Given the description of an element on the screen output the (x, y) to click on. 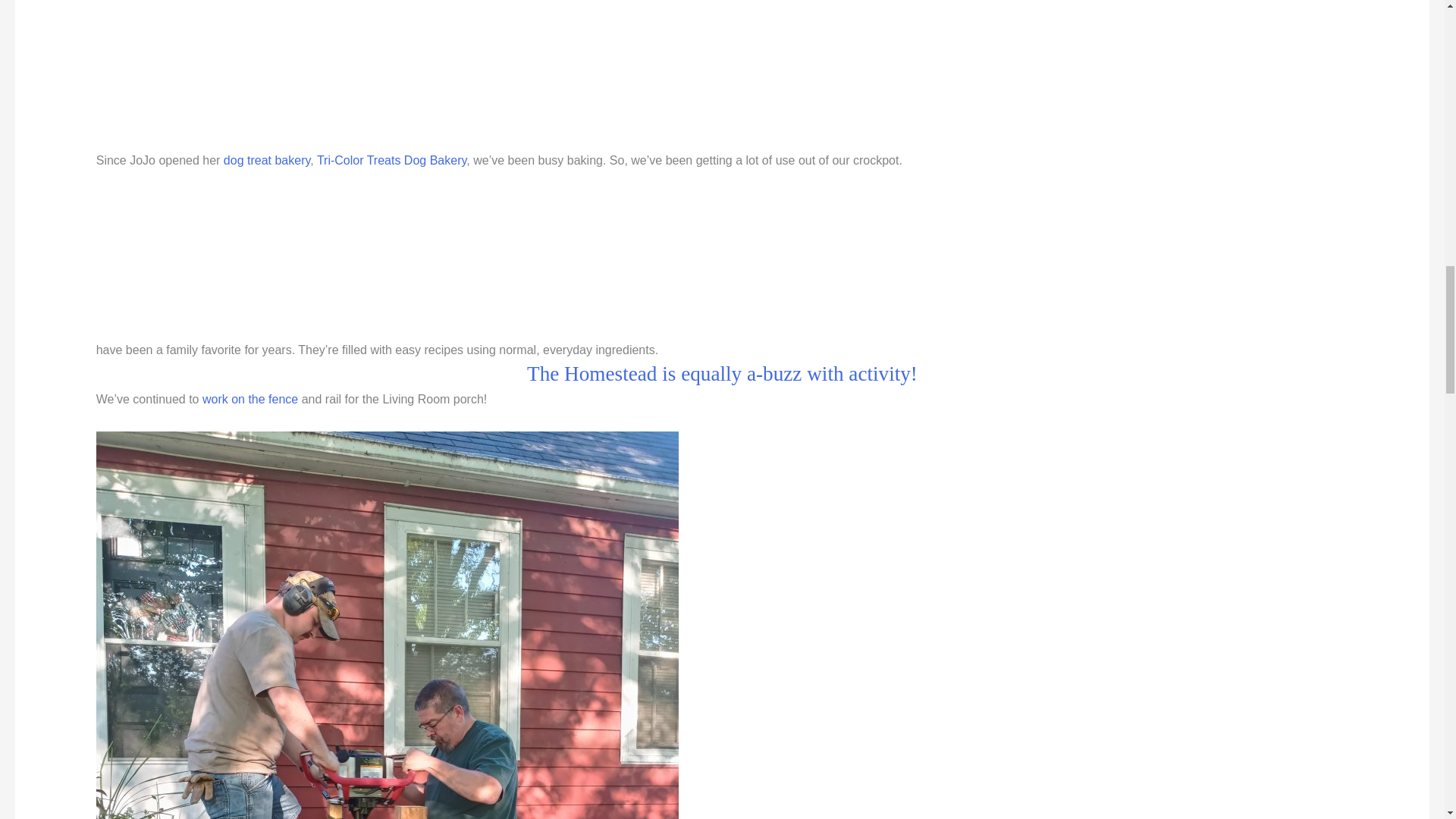
The Homestead is equally a-buzz with activity! (722, 373)
work on the fence (250, 399)
dog treat bakery (267, 160)
Tri-Color Treats Dog Bakery (391, 160)
